Given the description of an element on the screen output the (x, y) to click on. 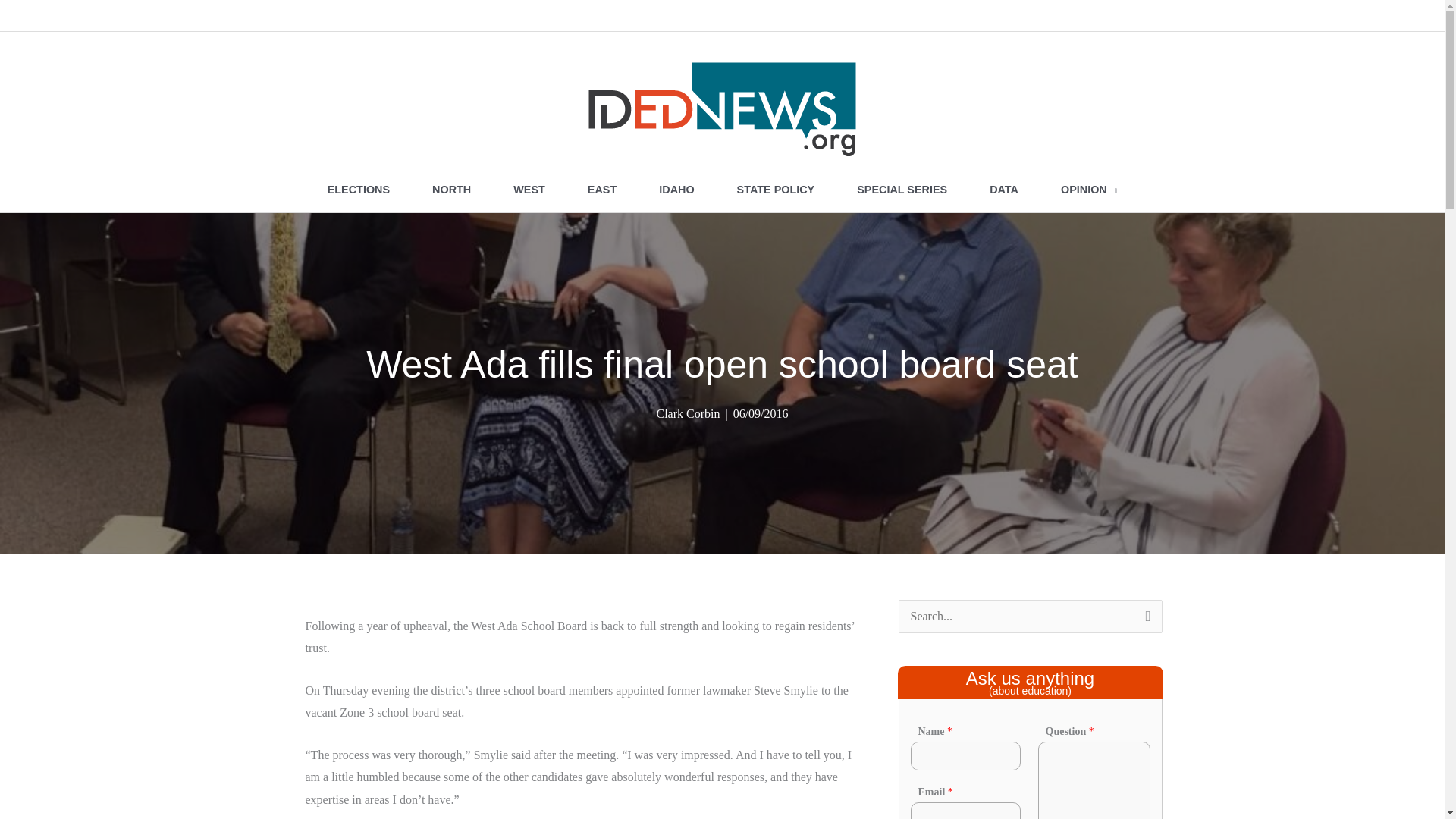
NORTH (451, 190)
DATA (1003, 190)
OPINION (1088, 190)
Clark Corbin (687, 413)
WEST (529, 190)
SPECIAL SERIES (901, 190)
IDAHO (675, 190)
STATE POLICY (775, 190)
ELECTIONS (357, 190)
EAST (601, 190)
